Given the description of an element on the screen output the (x, y) to click on. 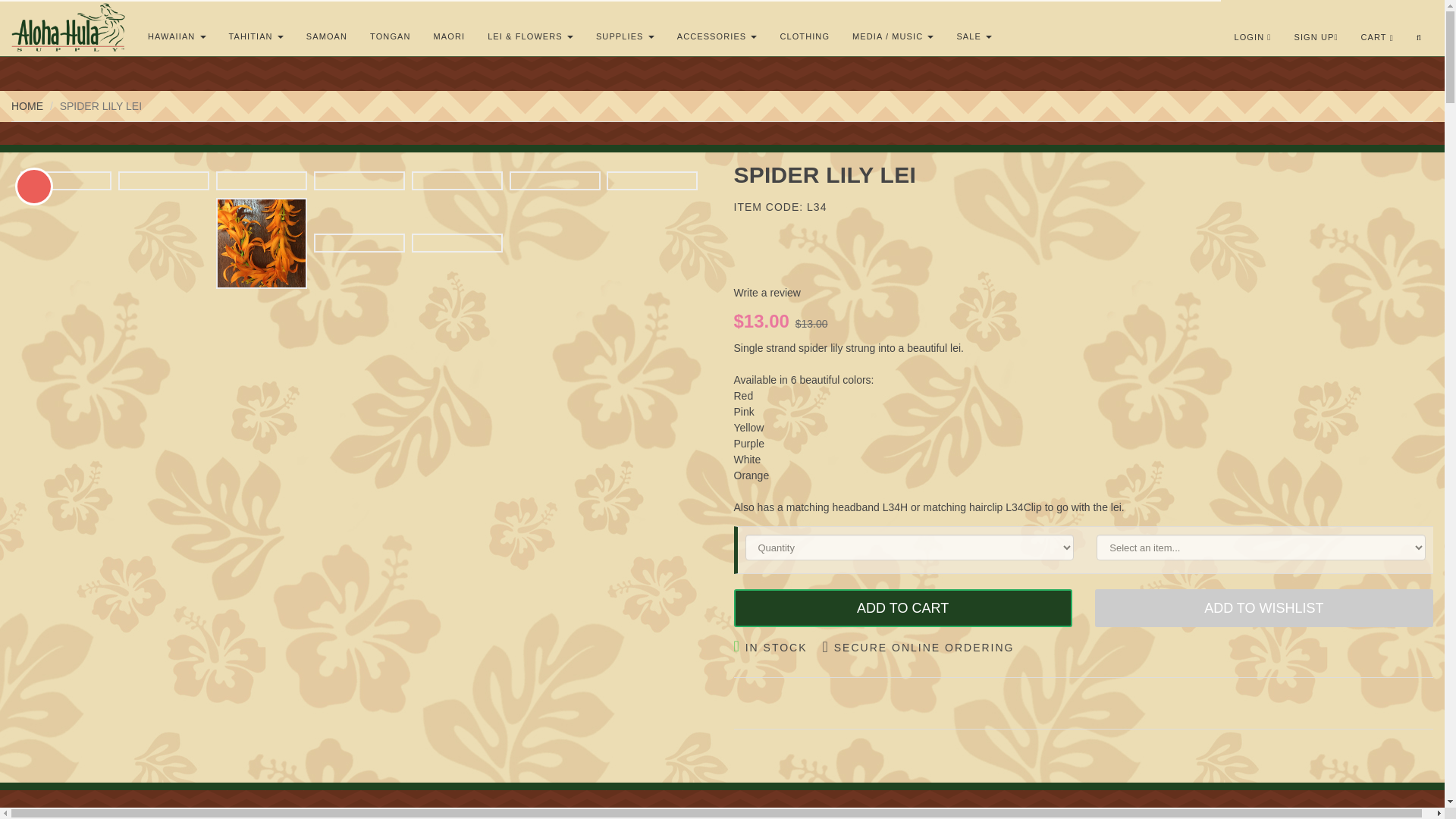
SAMOAN (326, 36)
TAHITIAN (255, 36)
TONGAN (390, 36)
MAORI (449, 36)
HAWAIIAN (176, 36)
Add to Cart (902, 607)
